Given the description of an element on the screen output the (x, y) to click on. 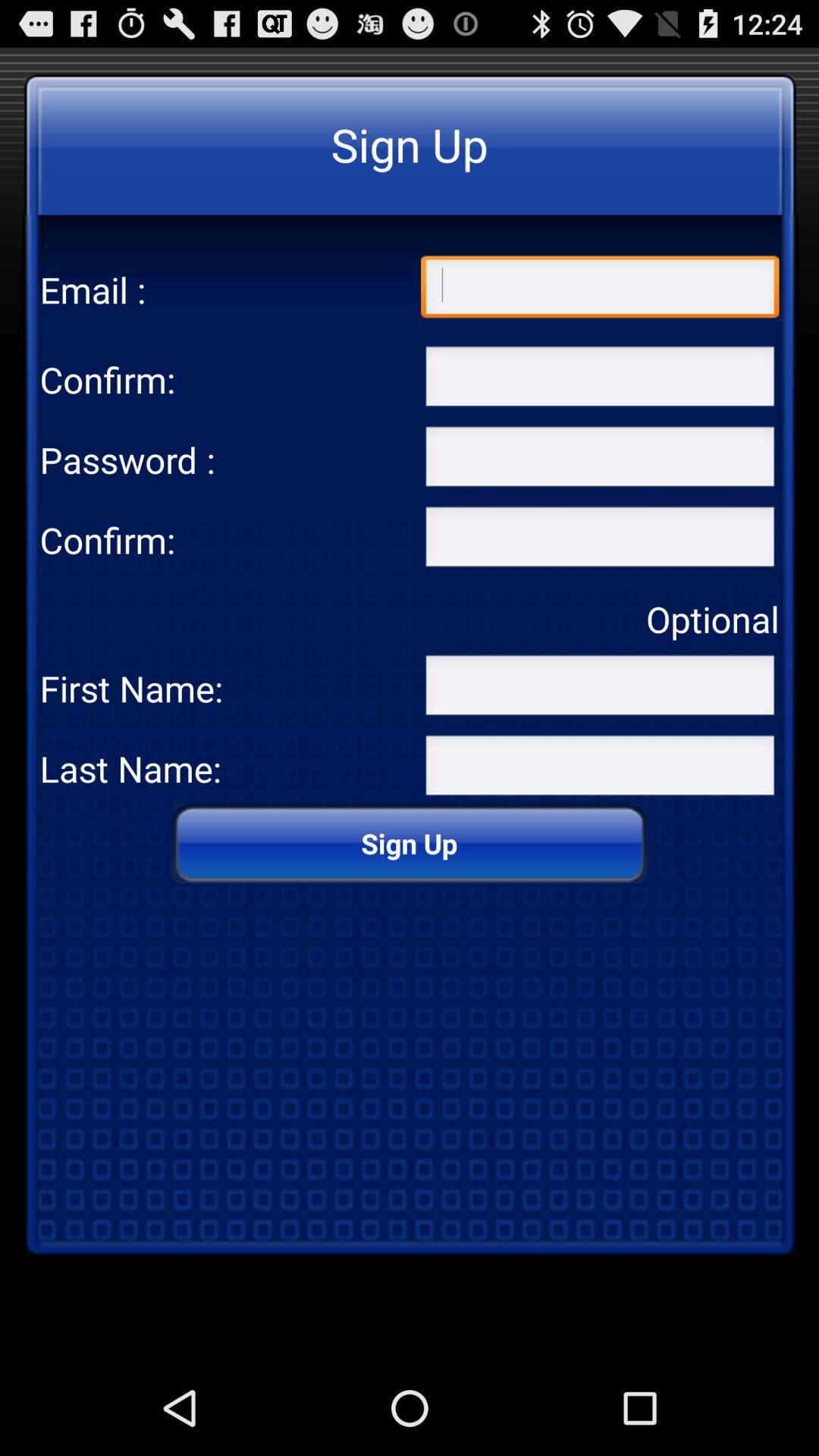
selec the sign up button (599, 540)
